Given the description of an element on the screen output the (x, y) to click on. 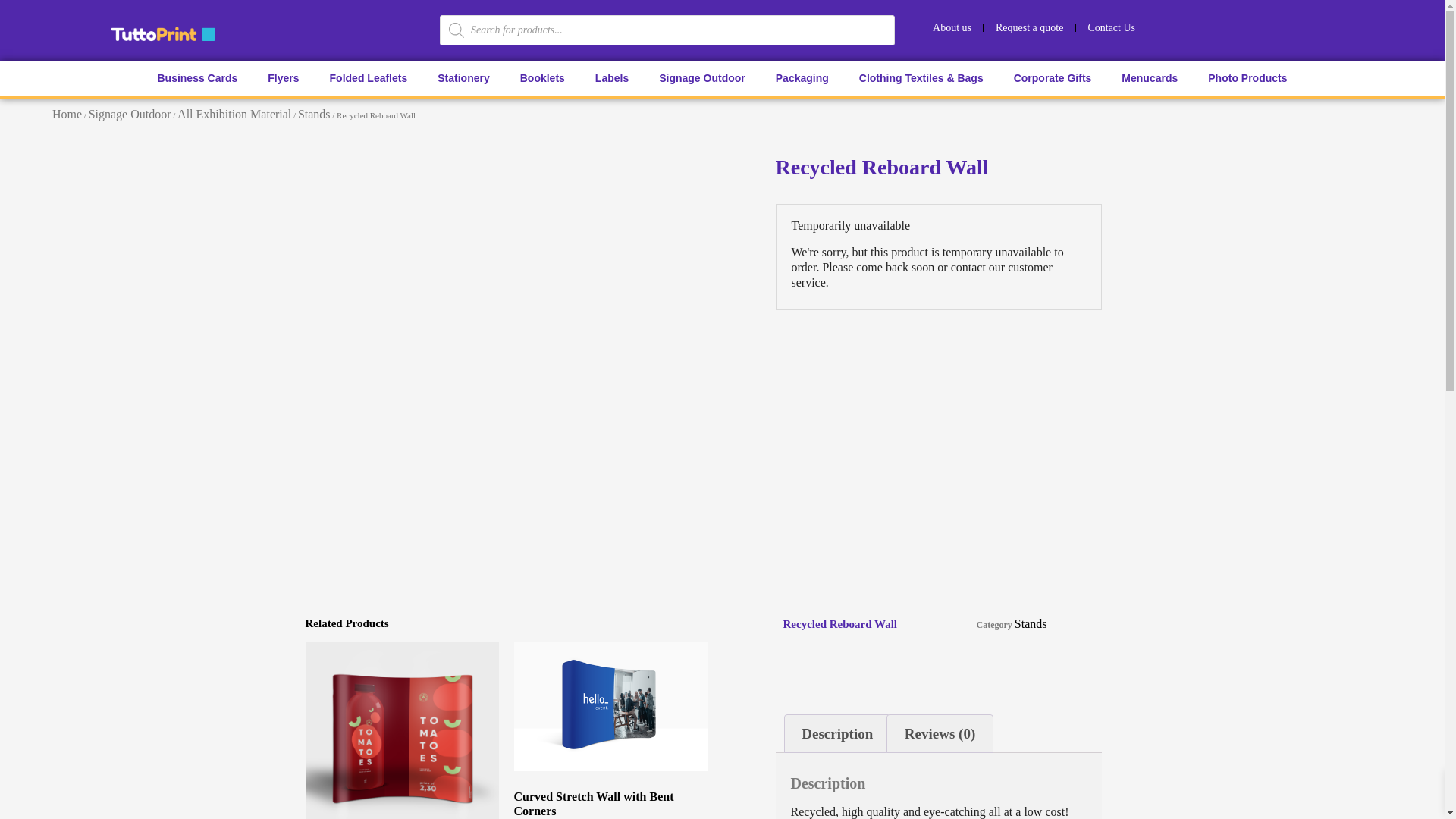
Booklets (542, 77)
About us (951, 27)
Stationery (462, 77)
Contact Us (1111, 27)
Business Cards (196, 77)
Folded Leaflets (368, 77)
Signage Outdoor (701, 77)
Labels (611, 77)
Flyers (282, 77)
Packaging (802, 77)
